Given the description of an element on the screen output the (x, y) to click on. 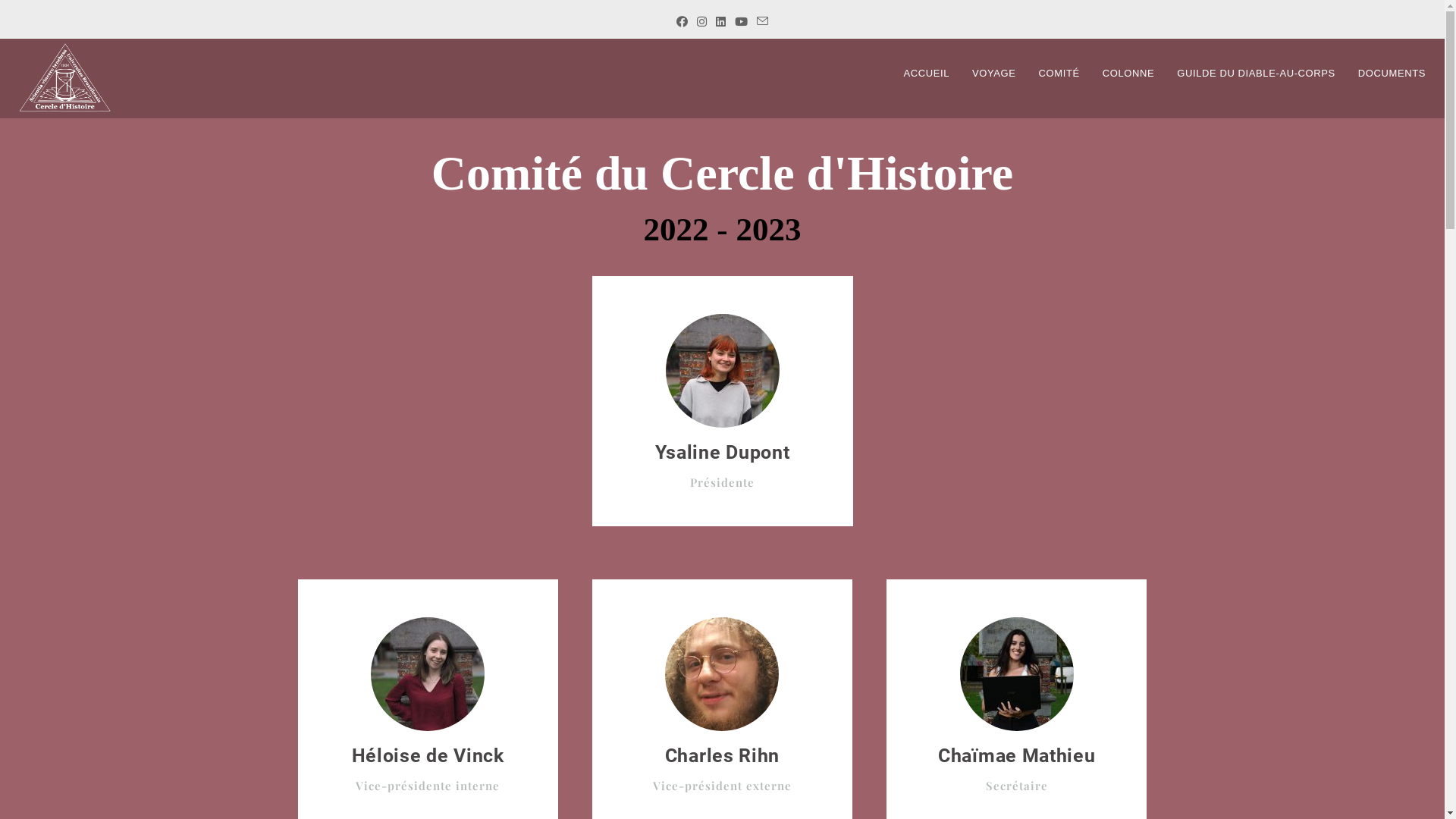
DOCUMENTS Element type: text (1391, 73)
COLONNE Element type: text (1128, 73)
ACCUEIL Element type: text (925, 73)
GUILDE DU DIABLE-AU-CORPS Element type: text (1255, 73)
VOYAGE Element type: text (993, 73)
